Given the description of an element on the screen output the (x, y) to click on. 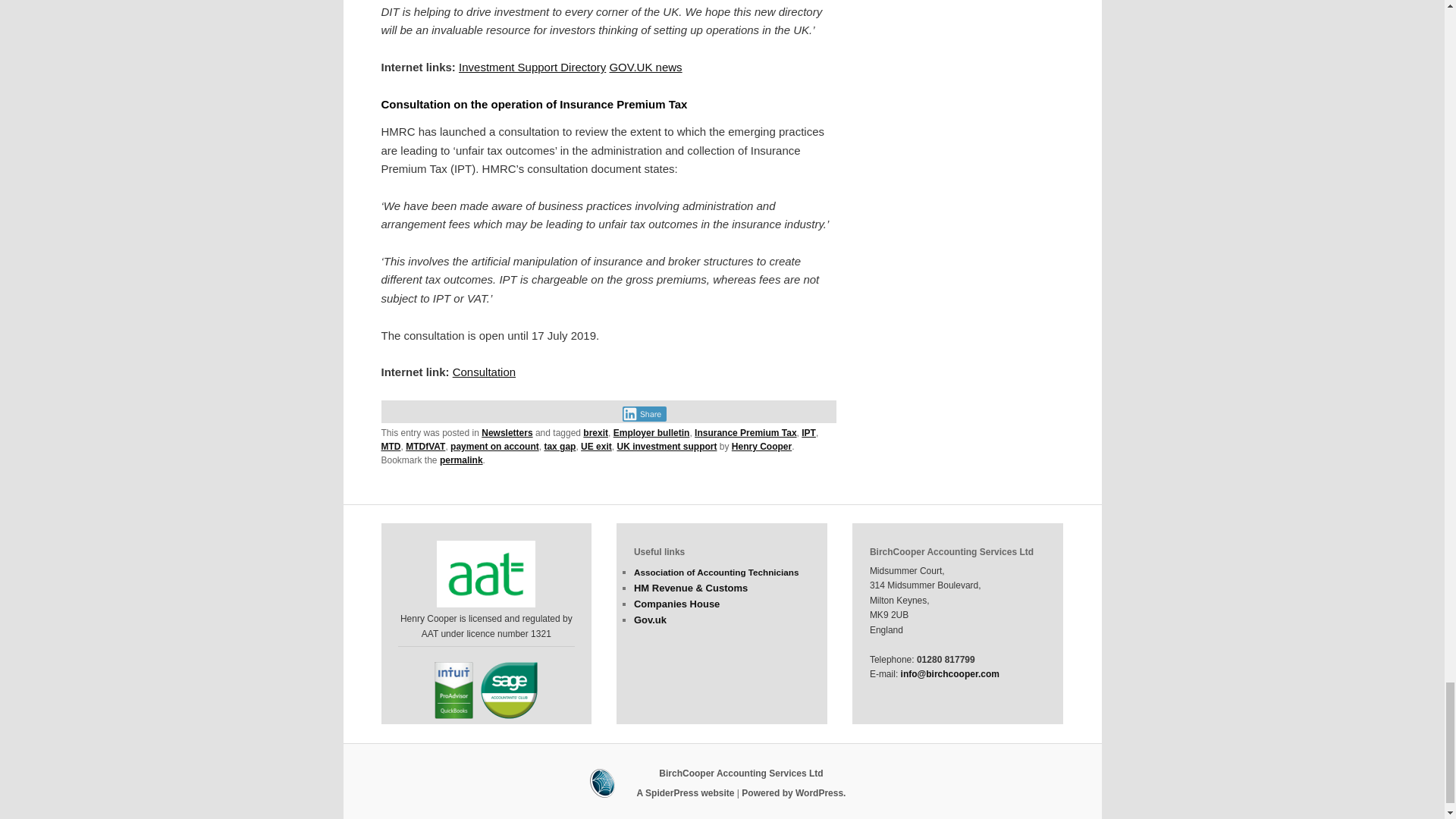
Newsletters (506, 432)
Consultation (483, 371)
Sage Accountants Club member (508, 690)
Employer bulletin (651, 432)
BirchCooper (740, 773)
Association of Accounting Technicians - member (485, 573)
Quickbooks Pro Advisor (453, 690)
Semantic Personal Publishing Platform (793, 792)
brexit (595, 432)
Investment Support Directory (531, 66)
Share (643, 413)
SpiderPress (722, 783)
GOV.UK news (644, 66)
